Given the description of an element on the screen output the (x, y) to click on. 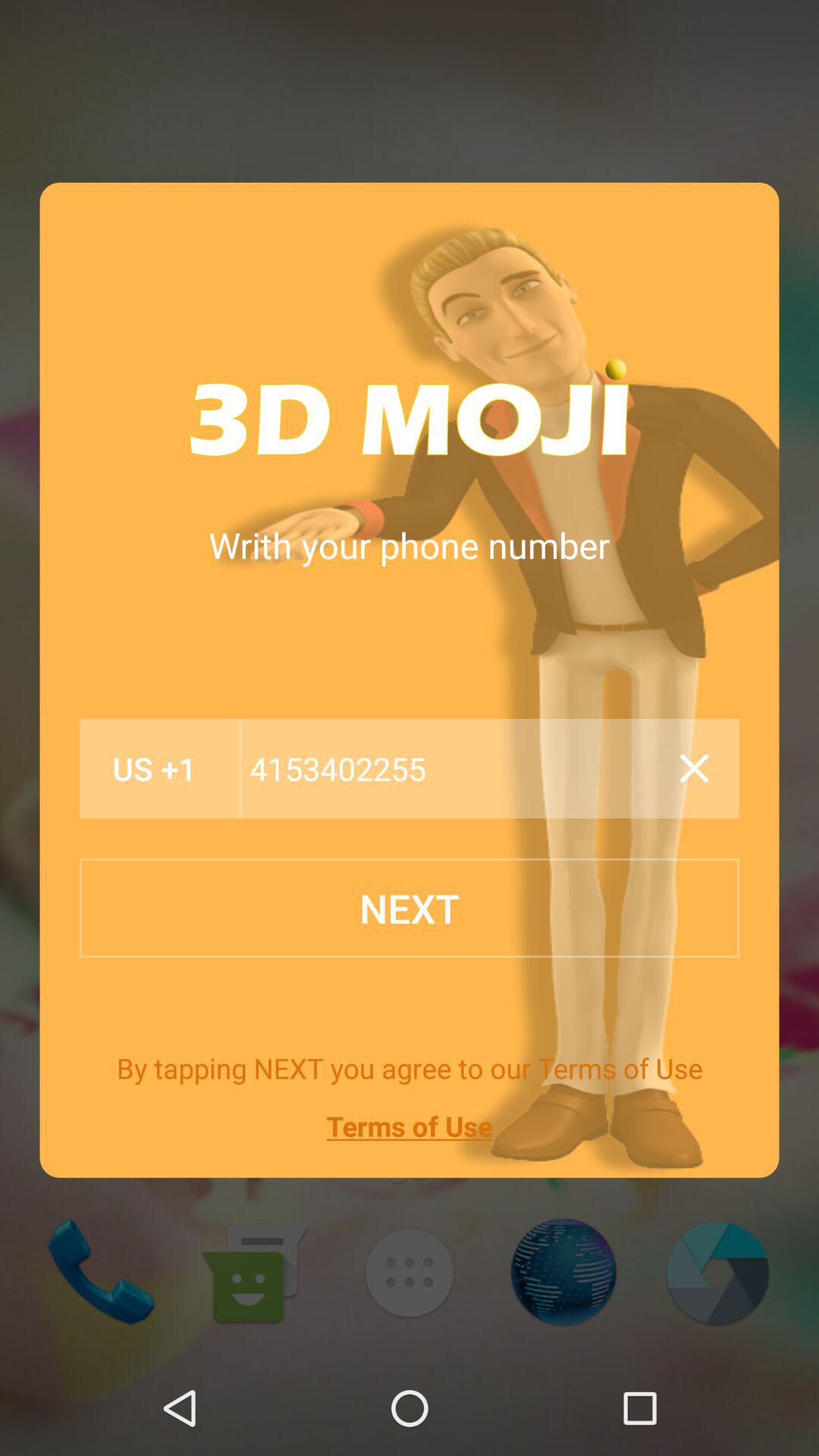
select the item on the right (694, 768)
